Given the description of an element on the screen output the (x, y) to click on. 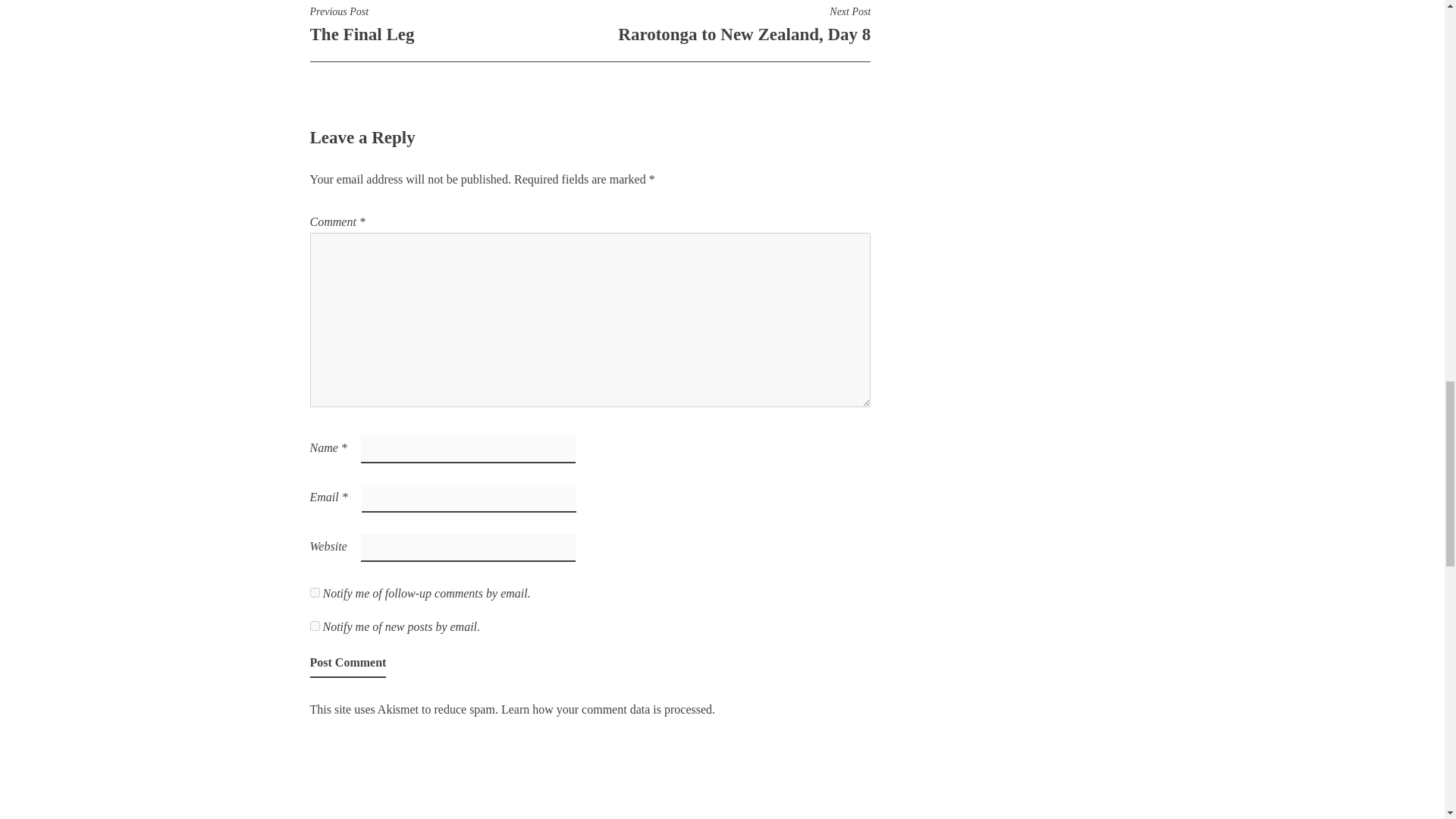
Post Comment (448, 24)
Learn how your comment data is processed (346, 664)
subscribe (605, 708)
Post Comment (313, 625)
subscribe (346, 664)
